Given the description of an element on the screen output the (x, y) to click on. 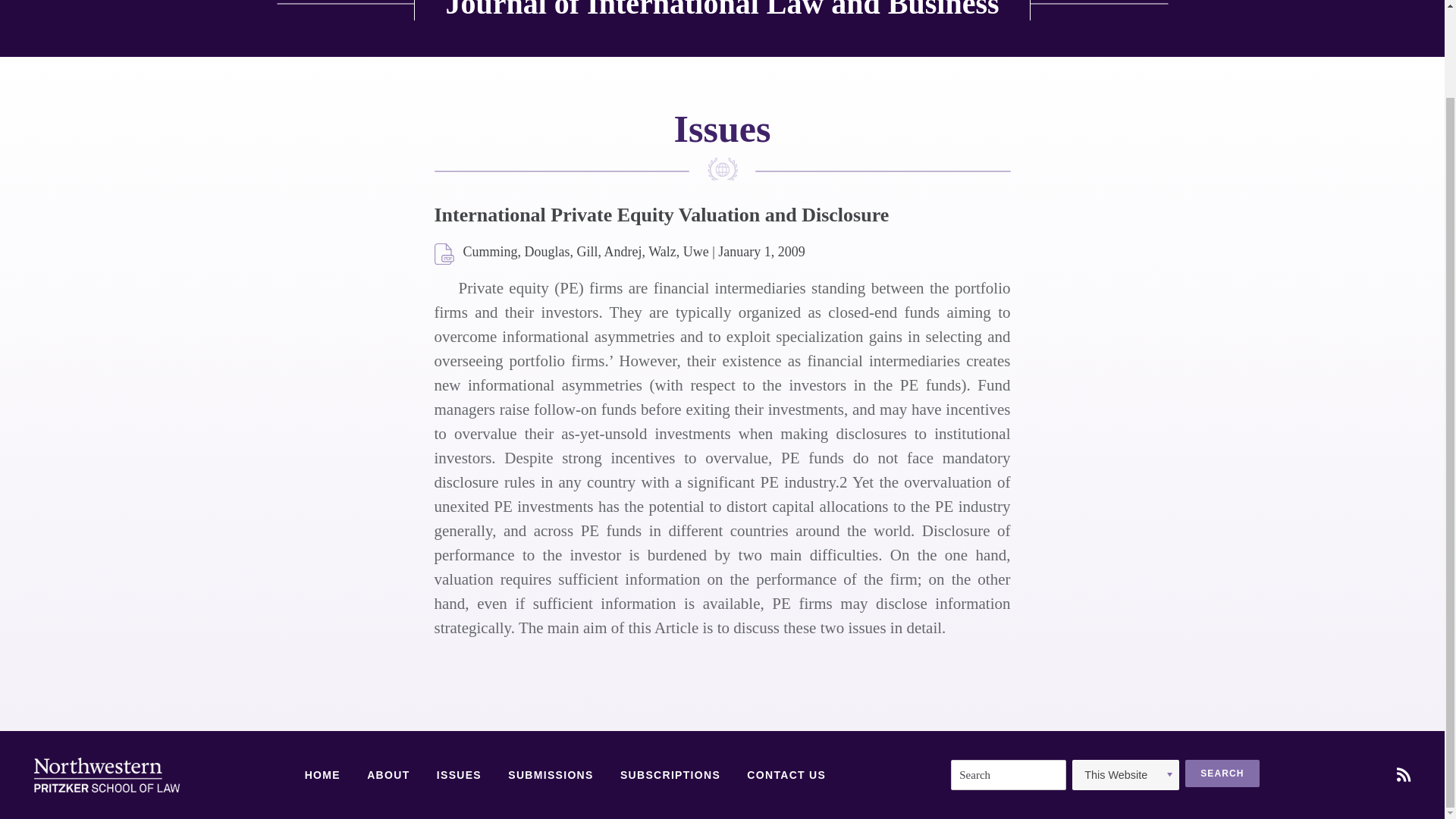
CONTACT US (785, 775)
International Private Equity Valuation and Disclosure (443, 254)
Northwestern Pritzker School of Law (106, 774)
Journal of International Law and Business (721, 10)
Search (1222, 773)
SUBMISSIONS (550, 775)
ABOUT (387, 775)
Search (1222, 773)
HOME (322, 775)
SUBSCRIPTIONS (670, 775)
